Given the description of an element on the screen output the (x, y) to click on. 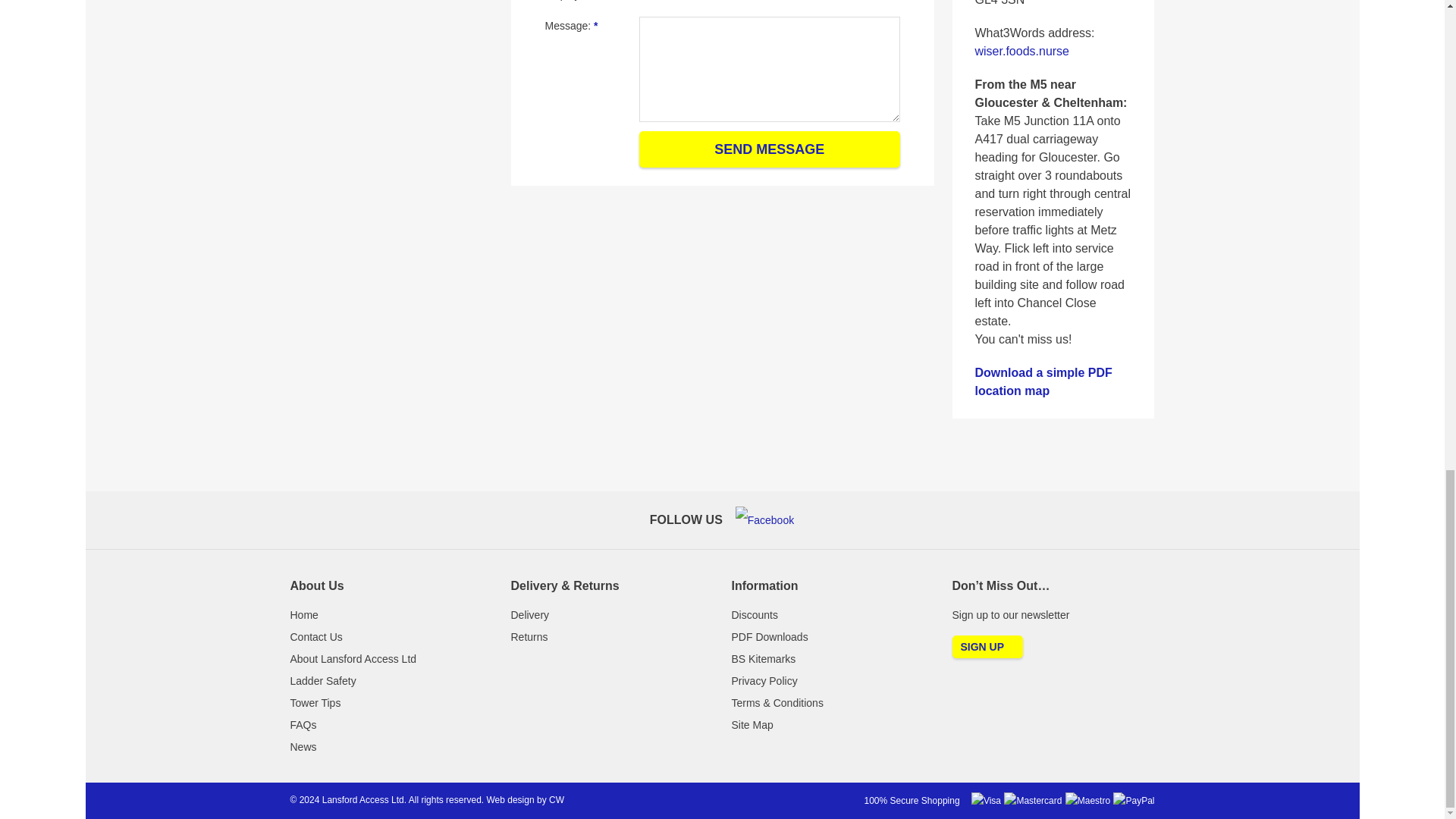
PayPal (1133, 800)
Responsive web deisgn (510, 799)
Follow us on Facebook (764, 519)
Web Design by Cotswold Web (556, 799)
Visa (986, 800)
Mastercard (1032, 800)
Maestro (1087, 800)
